Given the description of an element on the screen output the (x, y) to click on. 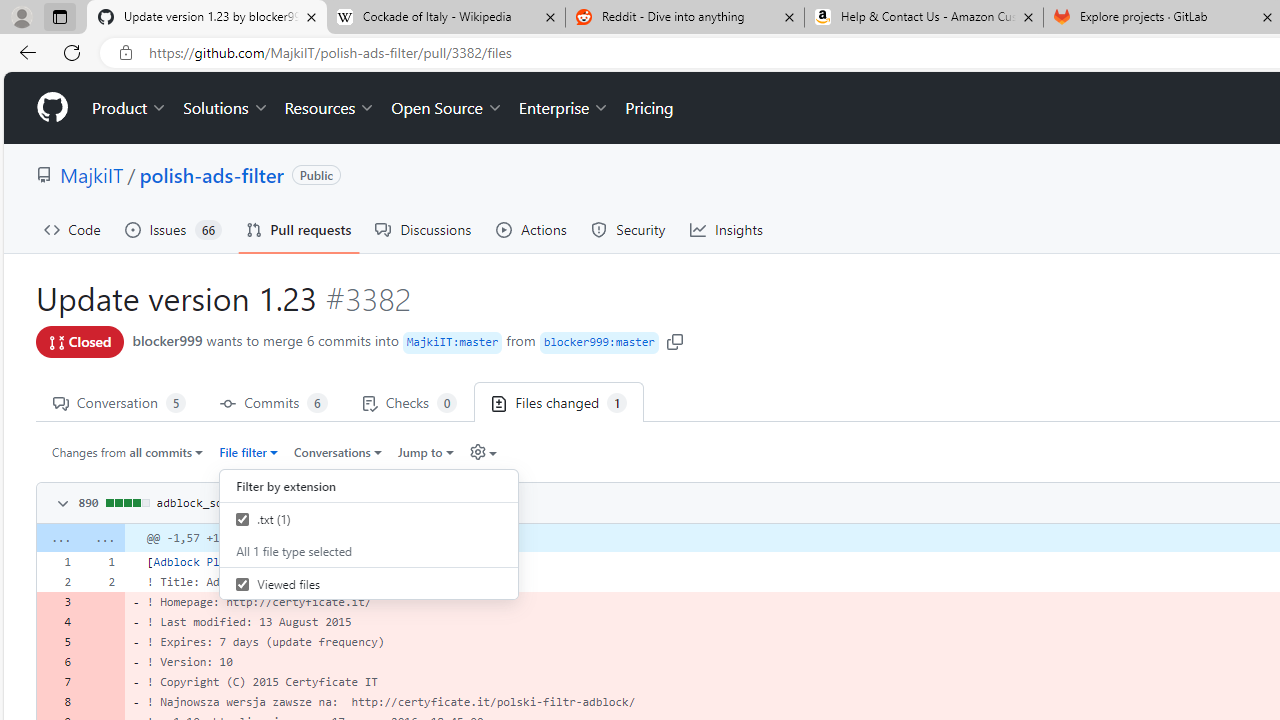
Open Source (446, 107)
Viewed files (369, 583)
1 (102, 561)
2 (102, 581)
MajkiIT : master (452, 342)
Enterprise (563, 107)
Actions (531, 229)
Code (71, 229)
Insights (726, 229)
Actions (531, 229)
Solutions (225, 107)
